Given the description of an element on the screen output the (x, y) to click on. 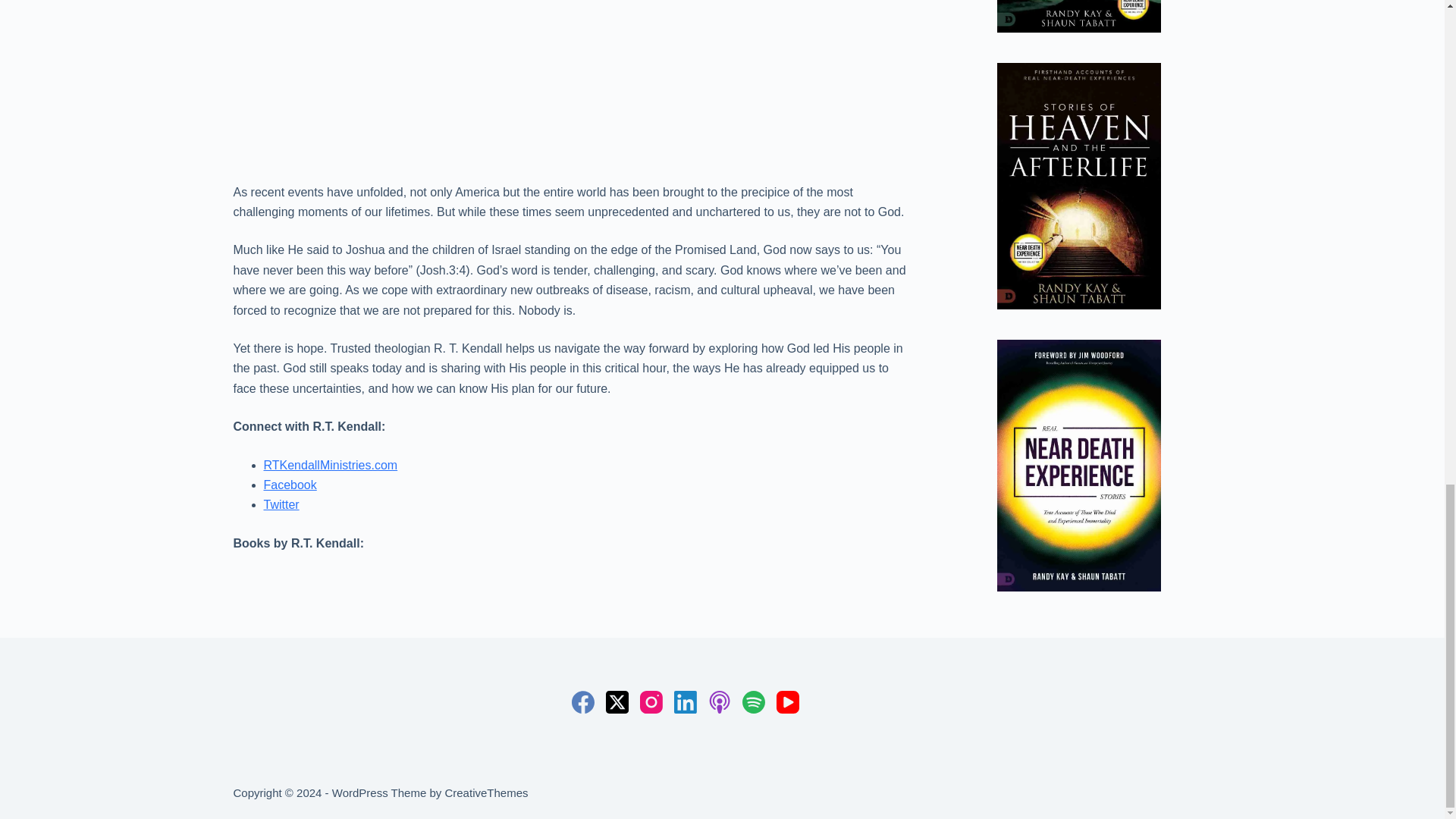
Twitter (281, 504)
RTKendallMinistries.com (330, 464)
Facebook (290, 484)
